Given the description of an element on the screen output the (x, y) to click on. 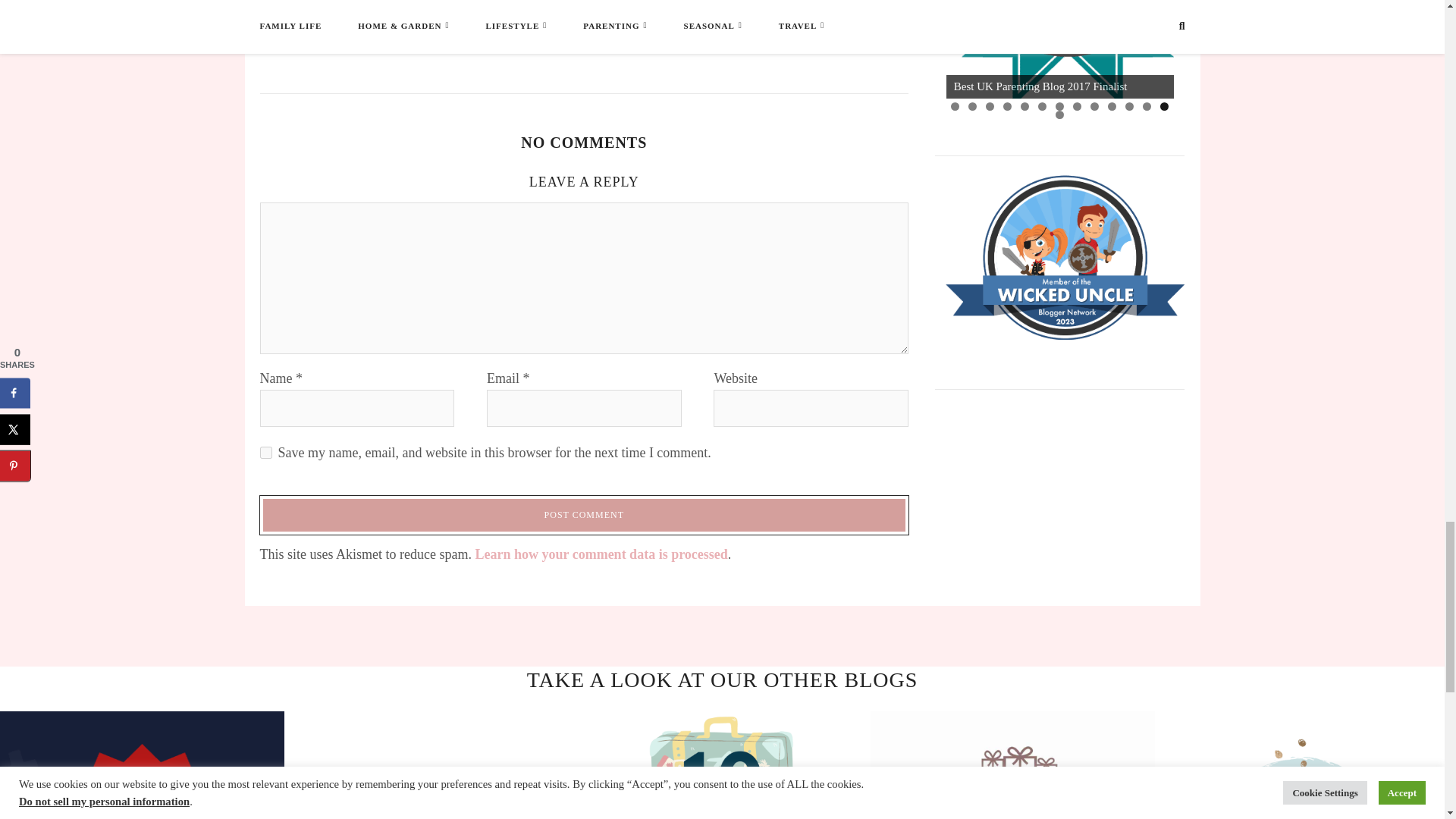
Post Comment (583, 515)
yes (264, 452)
